Given the description of an element on the screen output the (x, y) to click on. 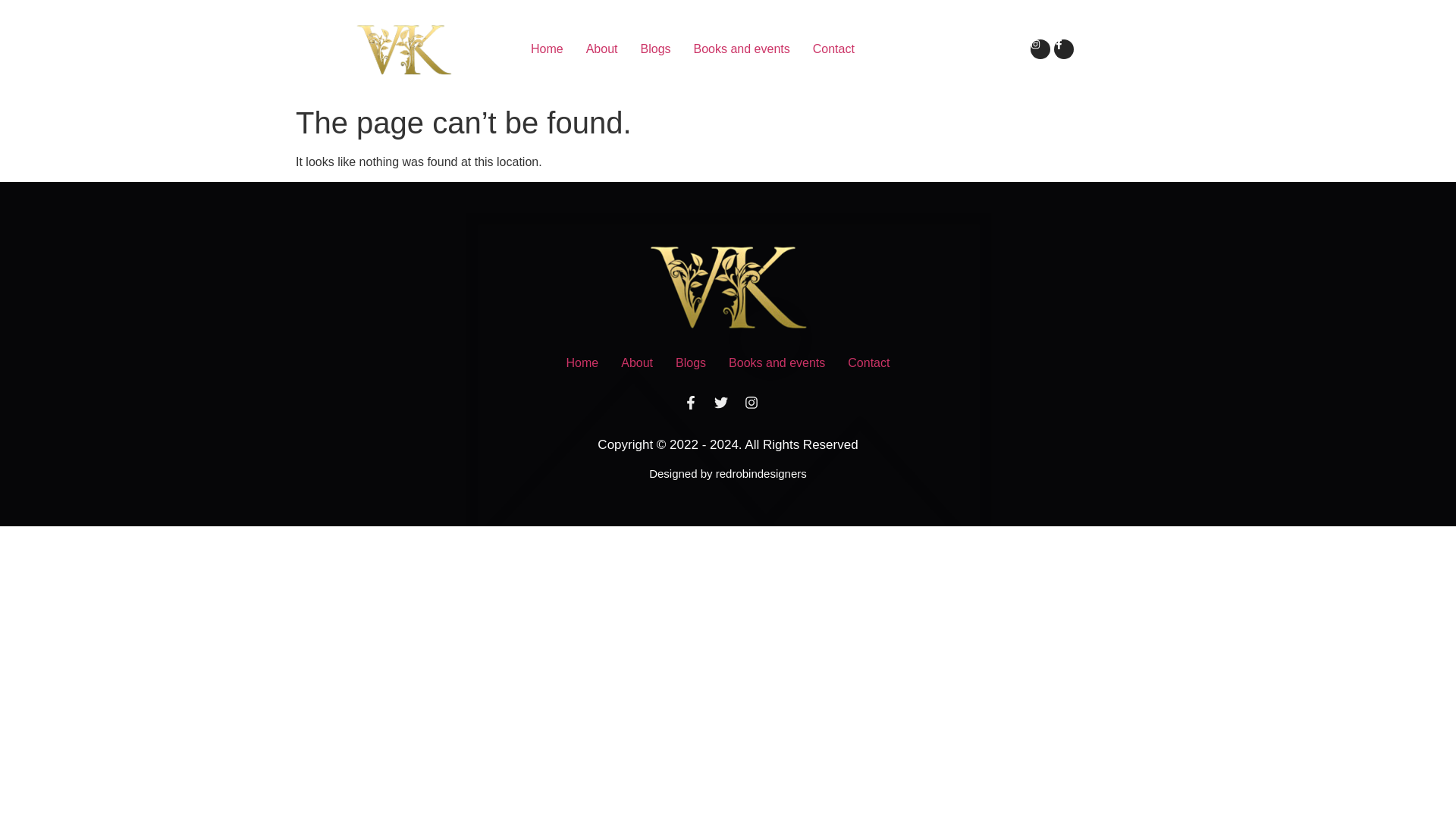
Books and events (776, 362)
Contact (868, 362)
Books and events (742, 48)
Home (582, 362)
Home (547, 48)
Designed by redrobindesigners (727, 473)
About (636, 362)
About (601, 48)
Blogs (655, 48)
Blogs (690, 362)
Contact (834, 48)
